Given the description of an element on the screen output the (x, y) to click on. 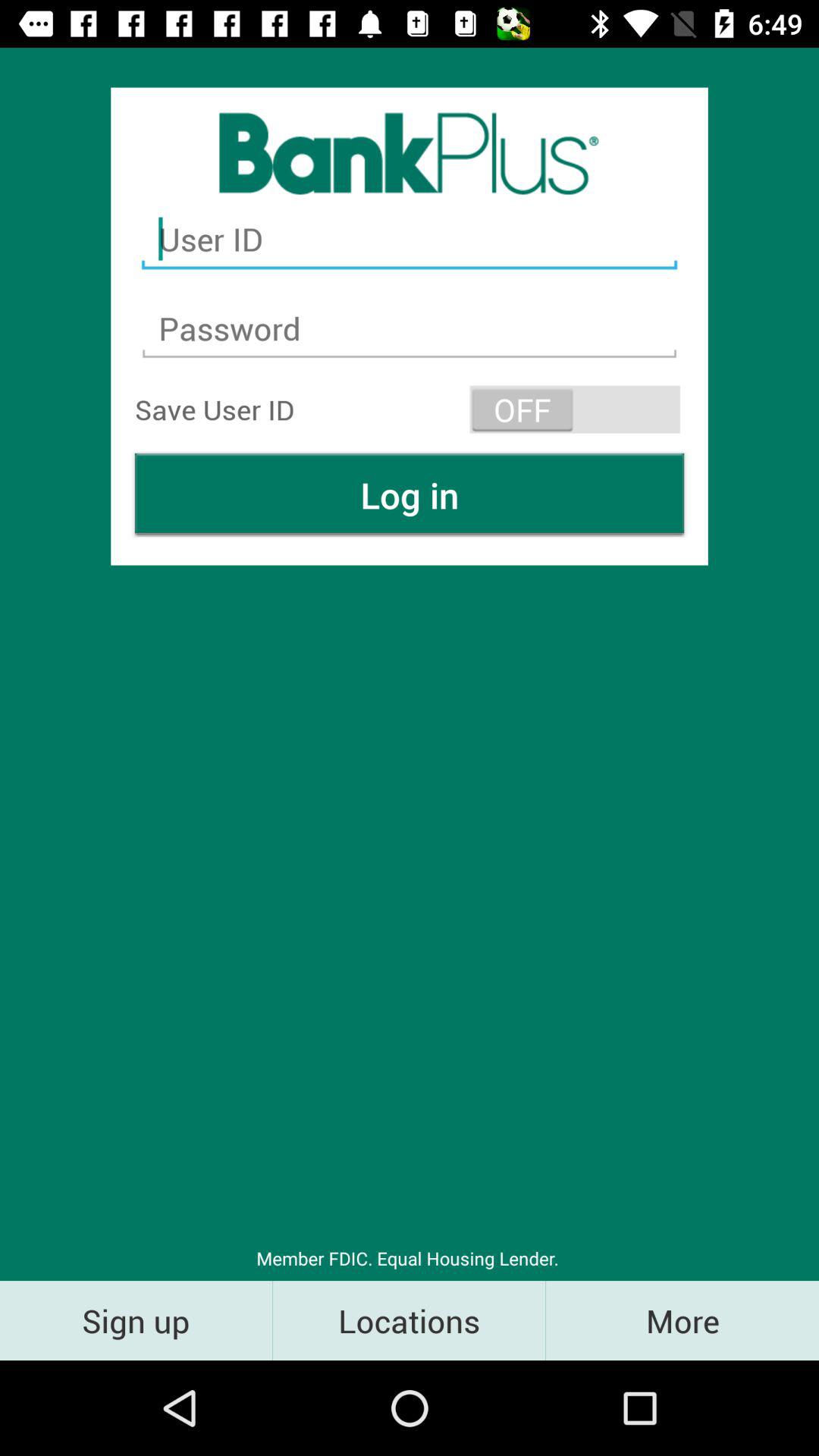
tap icon below member fdic equal icon (682, 1320)
